Given the description of an element on the screen output the (x, y) to click on. 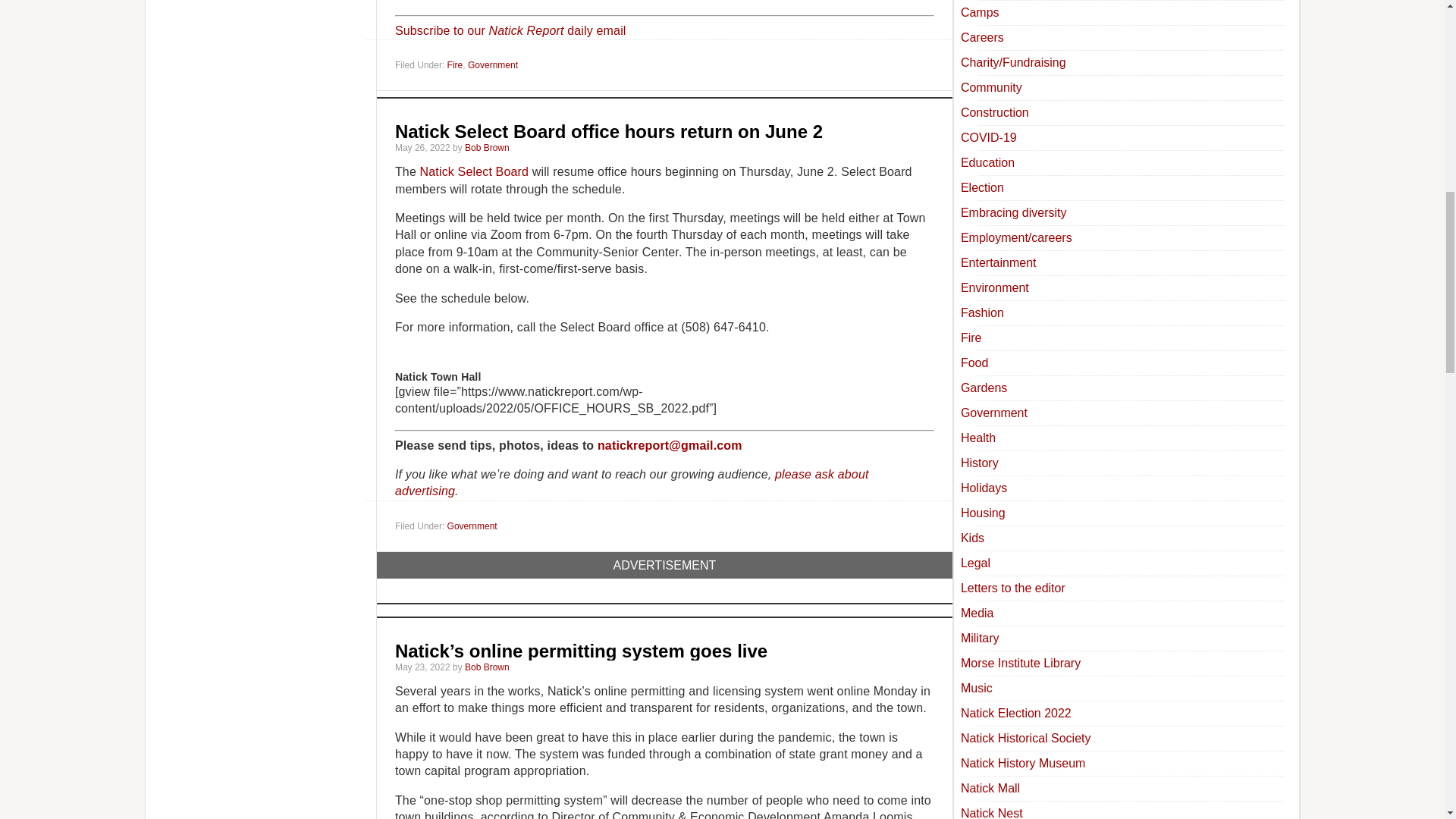
Subscribe to our Natick Report daily email (510, 30)
Natick Select Board office hours return on June 2 (608, 131)
Fire (454, 64)
Bob Brown (486, 147)
Government (492, 64)
